Given the description of an element on the screen output the (x, y) to click on. 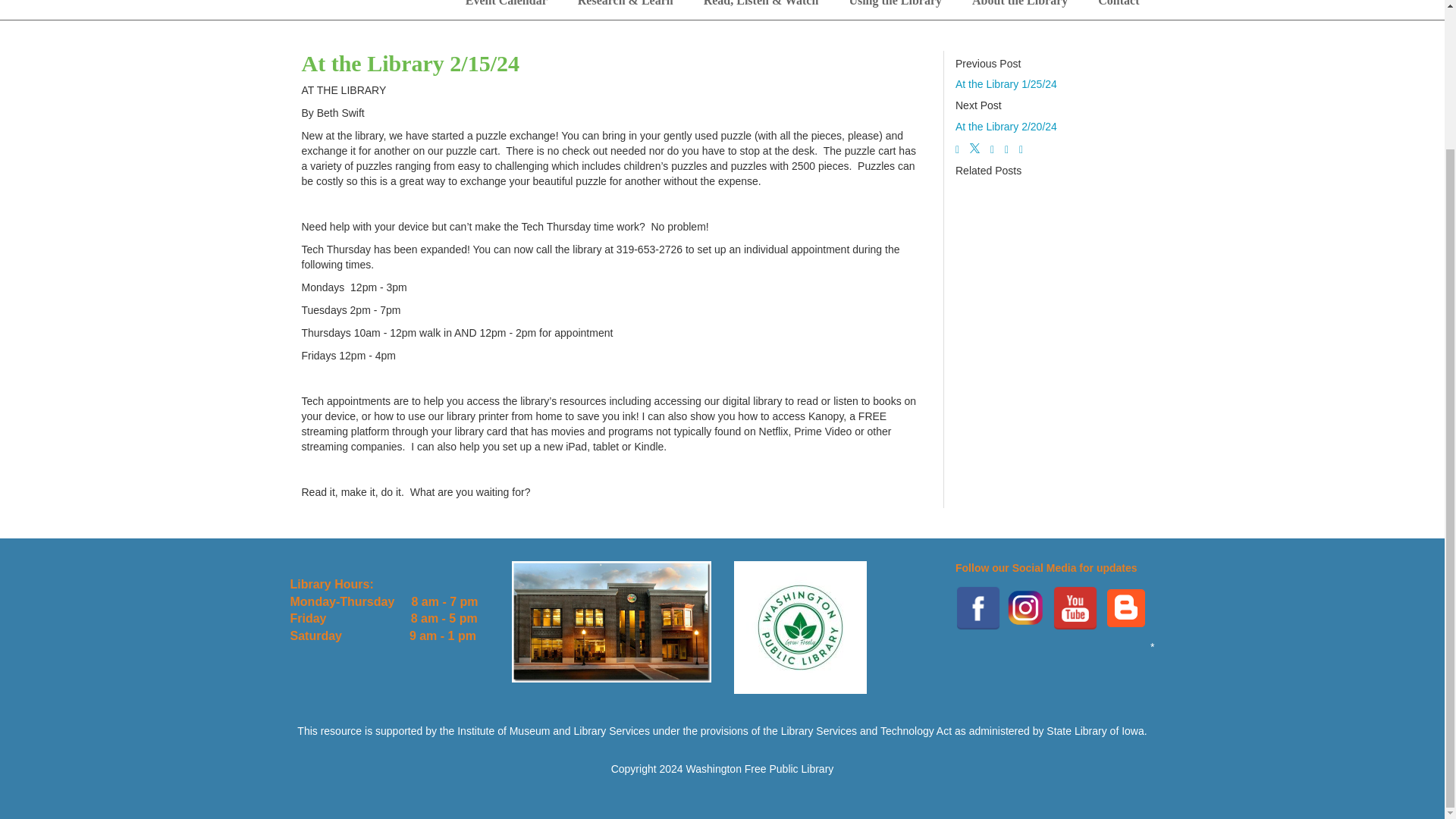
About the Library (1019, 9)
Using the Library (894, 9)
Event Calendar (505, 9)
